Given the description of an element on the screen output the (x, y) to click on. 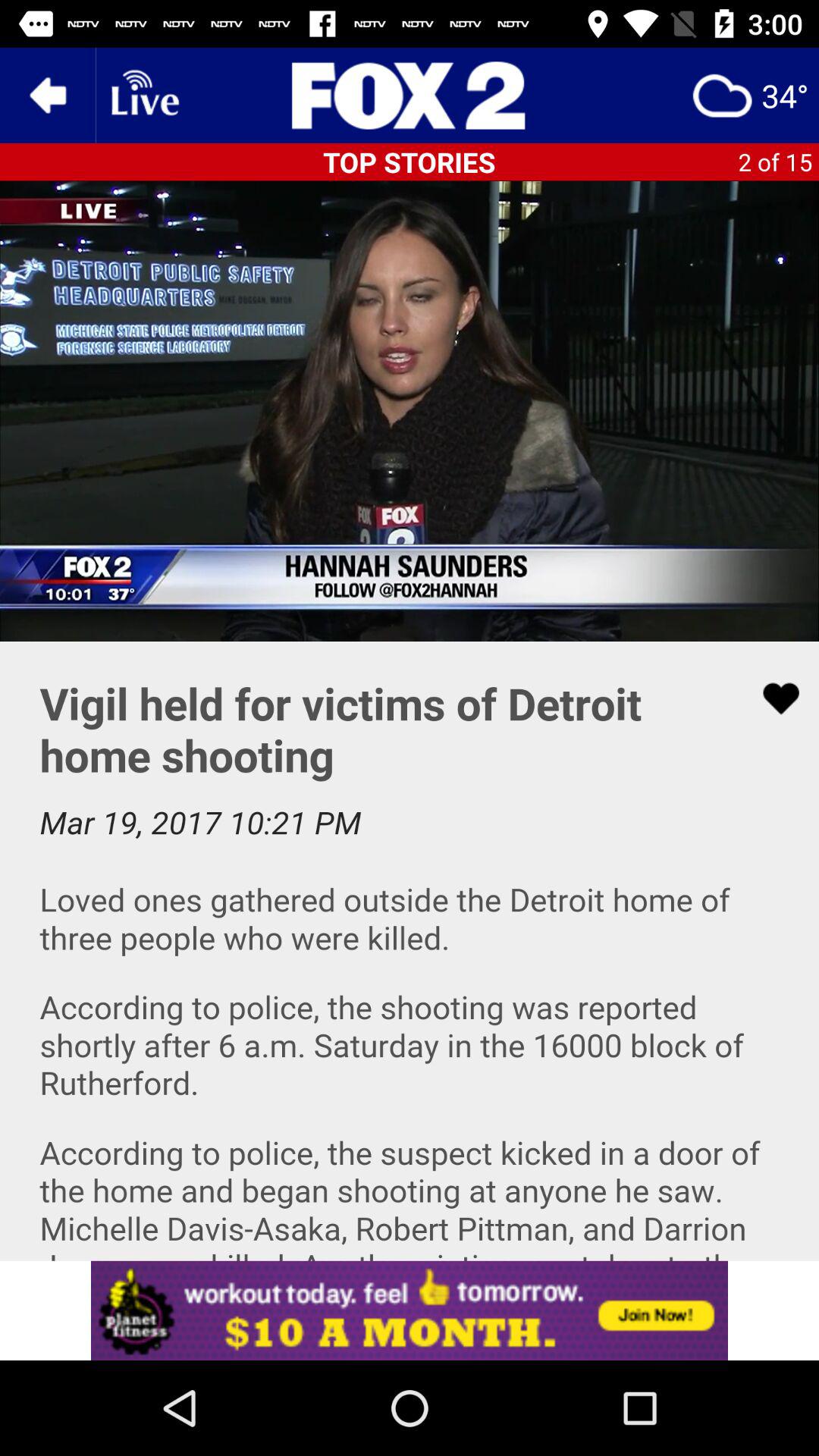
fox 2 icon (409, 95)
